Given the description of an element on the screen output the (x, y) to click on. 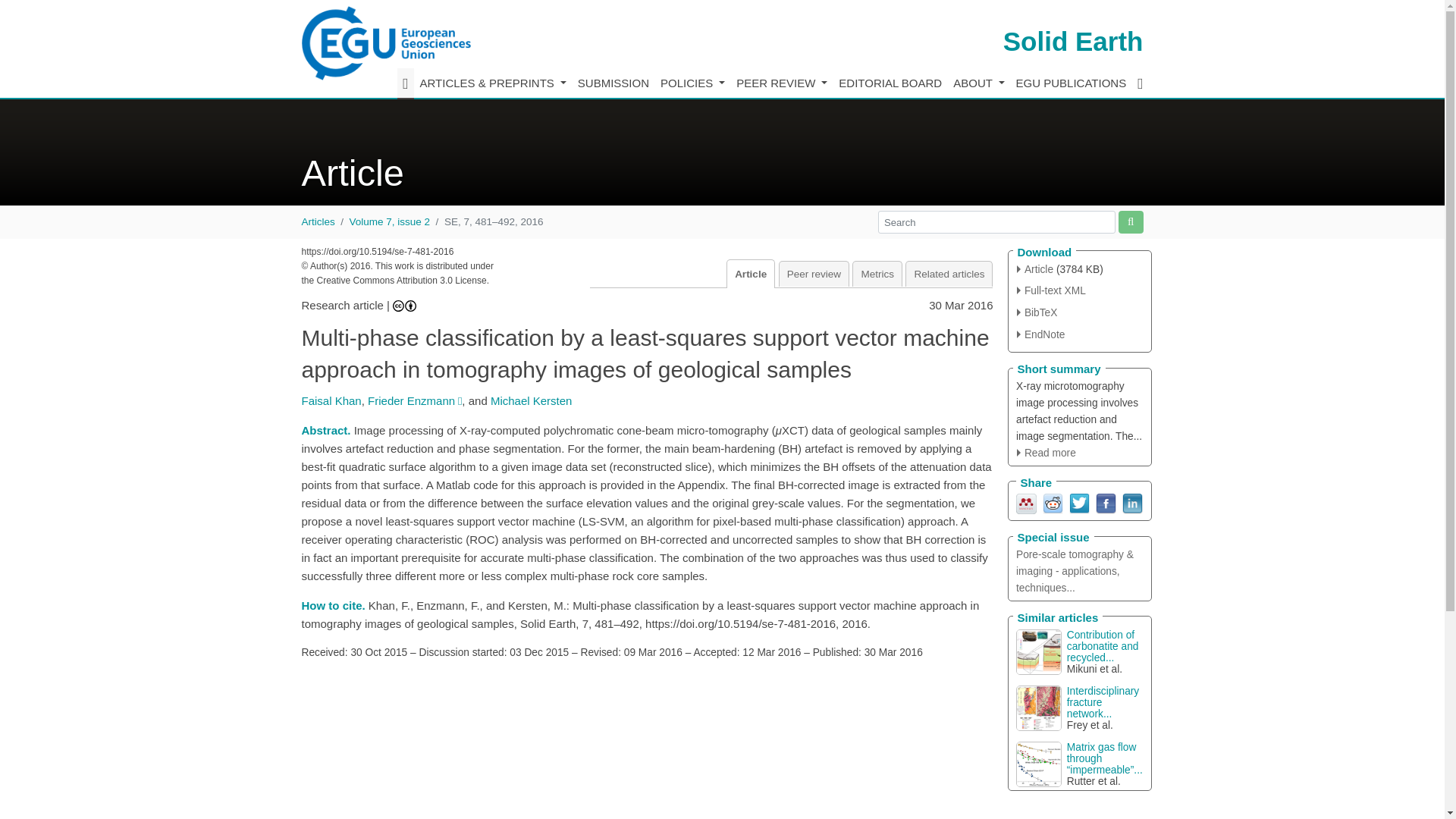
SUBMISSION (612, 83)
PEER REVIEW (781, 83)
Twitter (1078, 502)
POLICIES (691, 83)
Solid Earth (1072, 41)
XML Version (1051, 290)
Reddit (1052, 502)
Start site search (1130, 221)
Mendeley (1026, 502)
